Given the description of an element on the screen output the (x, y) to click on. 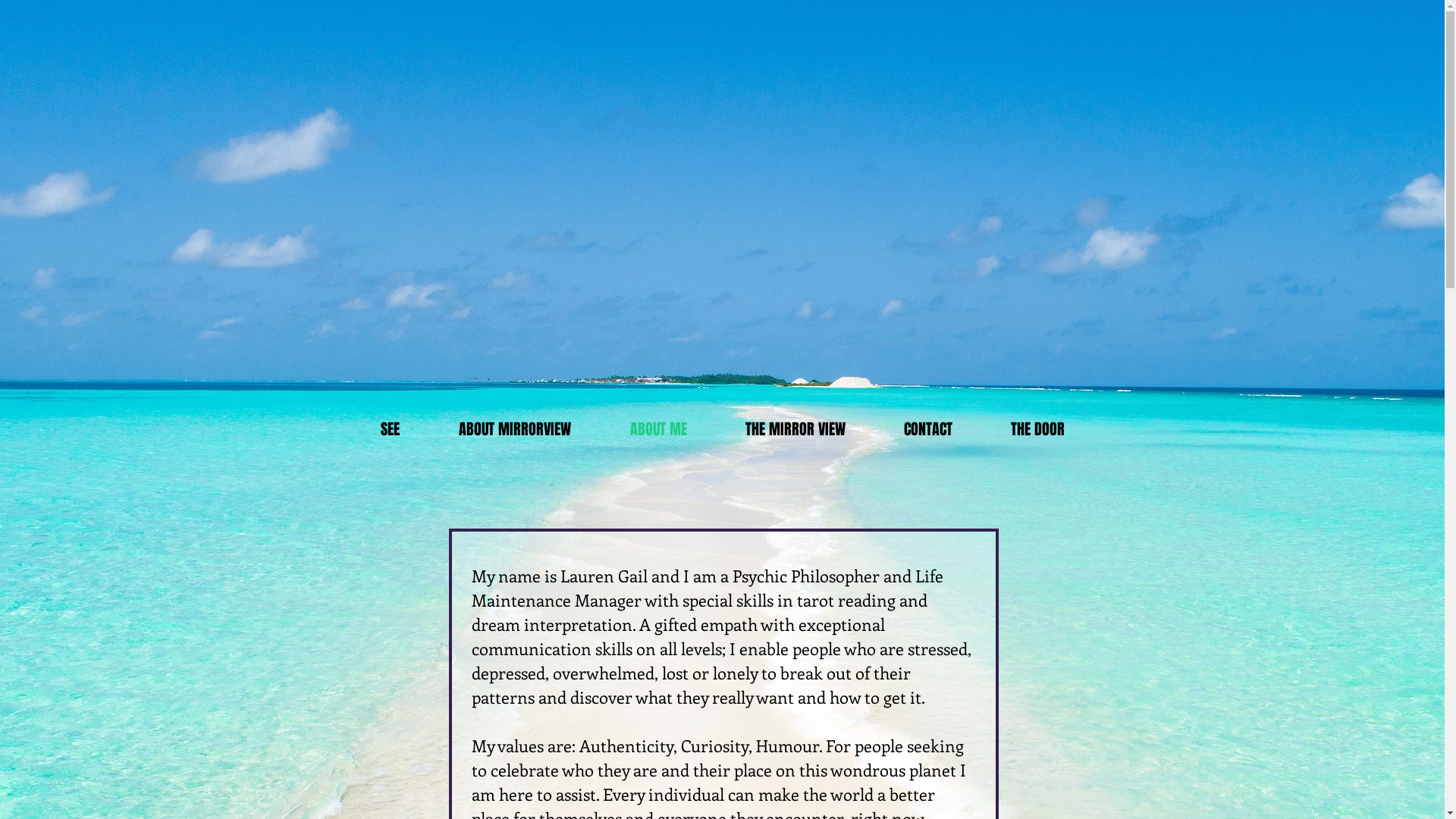
ABOUT MIRRORVIEW Element type: text (514, 429)
CONTACT Element type: text (928, 429)
SEE Element type: text (389, 429)
ABOUT ME Element type: text (658, 429)
THE MIRROR VIEW Element type: text (794, 429)
THE DOOR Element type: text (1037, 429)
